Given the description of an element on the screen output the (x, y) to click on. 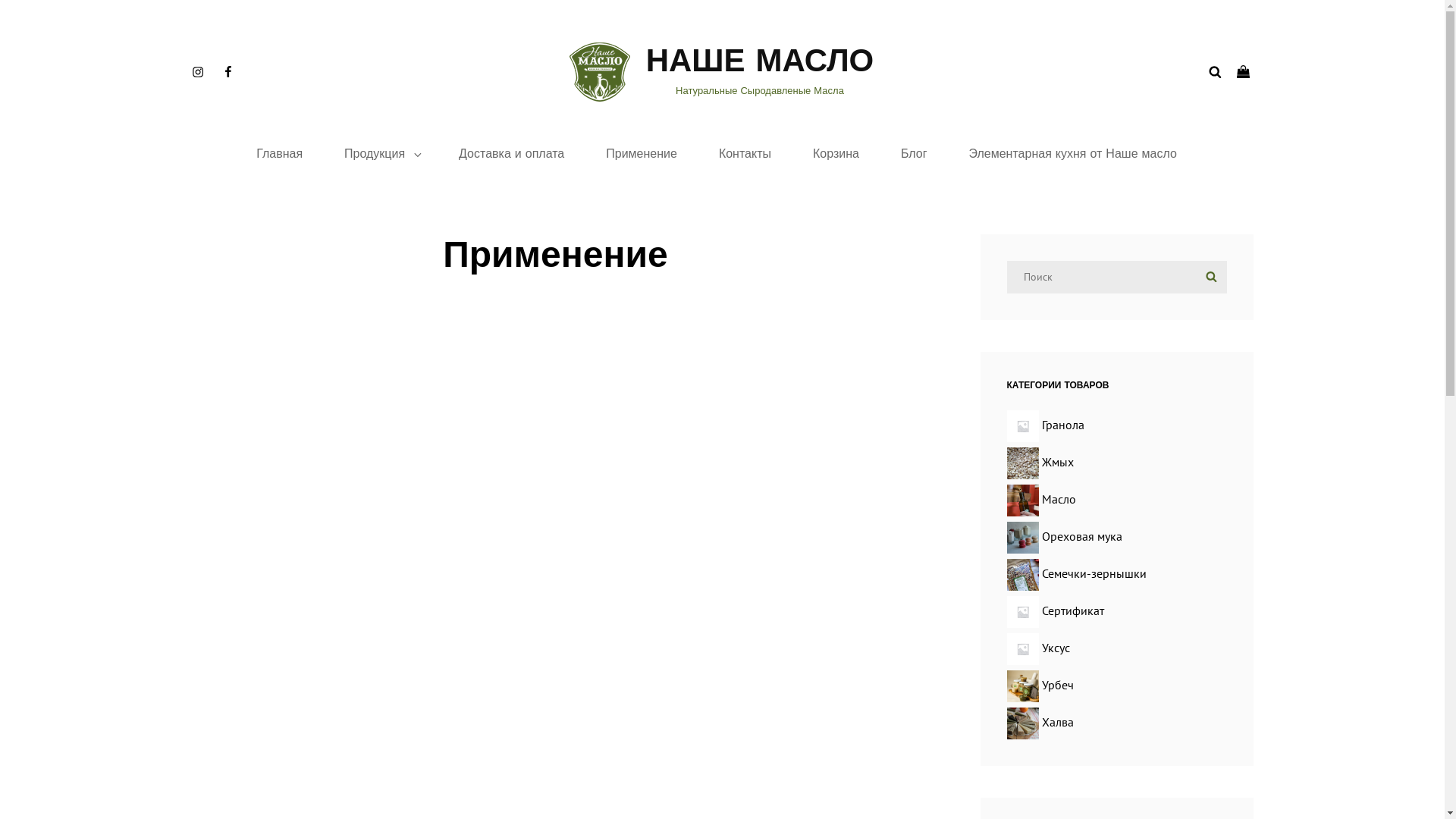
Instagram Element type: text (196, 71)
View your shopping cart Element type: text (1244, 72)
Fb Element type: text (227, 71)
Search Element type: text (1210, 276)
